Given the description of an element on the screen output the (x, y) to click on. 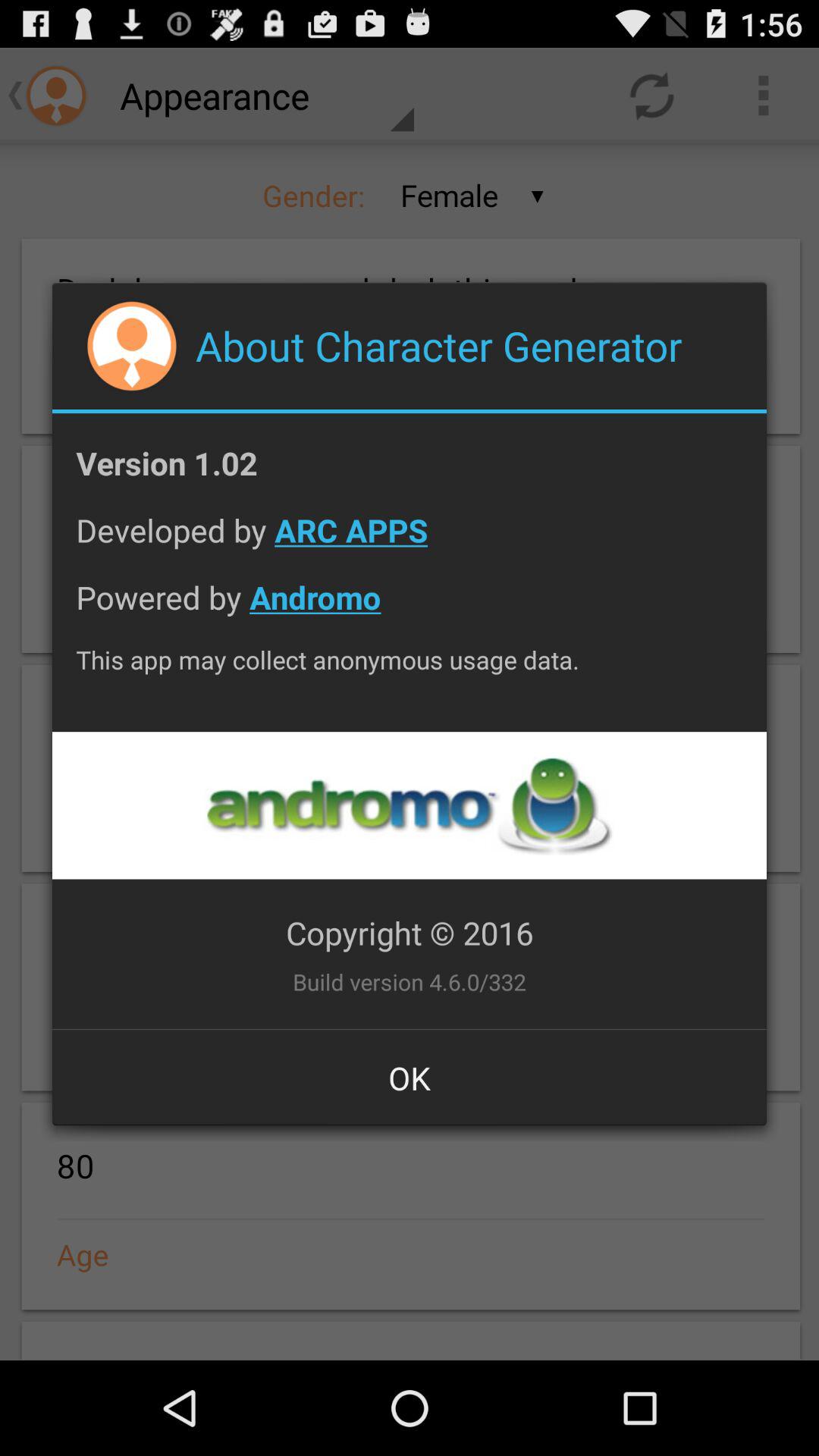
advertisement page (408, 805)
